Given the description of an element on the screen output the (x, y) to click on. 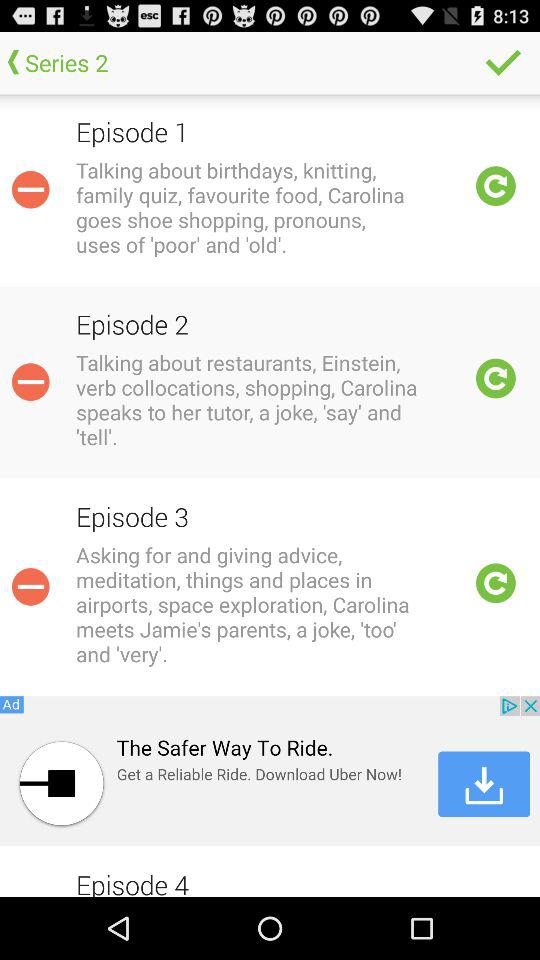
click to remove (30, 382)
